Given the description of an element on the screen output the (x, y) to click on. 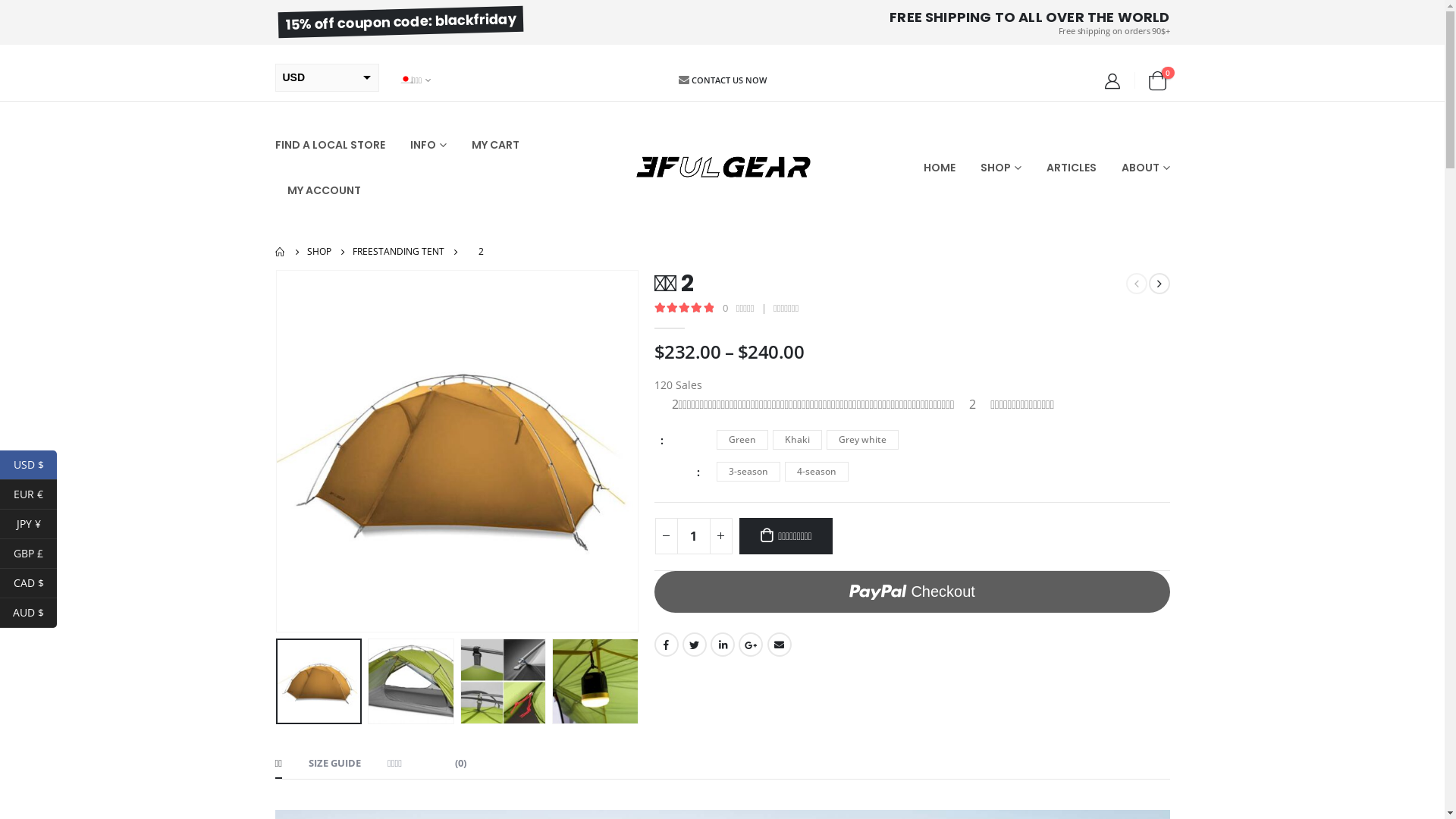
Google + Element type: text (750, 644)
My Account Element type: hover (1112, 80)
PayPal Element type: hover (911, 591)
3-season Element type: text (747, 471)
AUD $ Element type: text (28, 612)
CONTACT US NOW Element type: text (728, 79)
HOME Element type: text (945, 167)
MY ACCOUNT Element type: text (317, 190)
MY CART Element type: text (495, 144)
+ Element type: text (720, 535)
LinkedIn Element type: text (722, 644)
CAD $ Element type: text (28, 583)
Green Element type: text (741, 439)
4-season Element type: text (815, 471)
SHOP Element type: text (999, 167)
FIND A LOCAL STORE Element type: text (335, 144)
khaki Element type: hover (456, 450)
ABOUT Element type: text (1138, 167)
Twitter Element type: text (694, 644)
Go to Home Page Element type: hover (279, 251)
Khaki Element type: text (796, 439)
- Element type: text (666, 535)
USD $ Element type: text (28, 465)
Grey white Element type: text (862, 439)
FREESTANDING TENT Element type: text (397, 251)
Facebook Element type: text (665, 644)
Email Element type: text (779, 644)
INFO Element type: text (427, 144)
ARTICLES Element type: text (1071, 167)
SHOP Element type: text (318, 251)
